Given the description of an element on the screen output the (x, y) to click on. 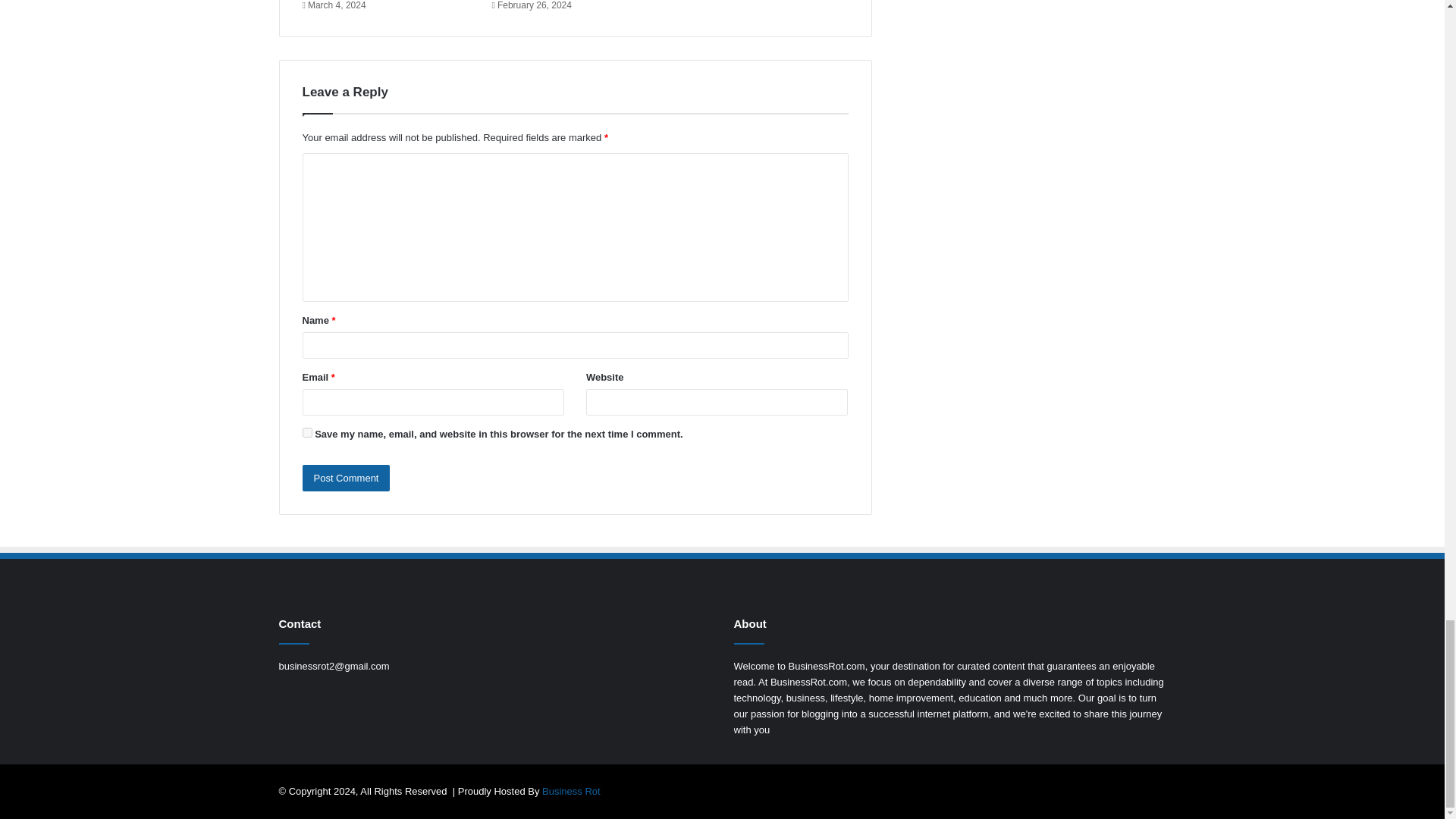
yes (306, 432)
Post Comment (345, 478)
Post Comment (345, 478)
